Given the description of an element on the screen output the (x, y) to click on. 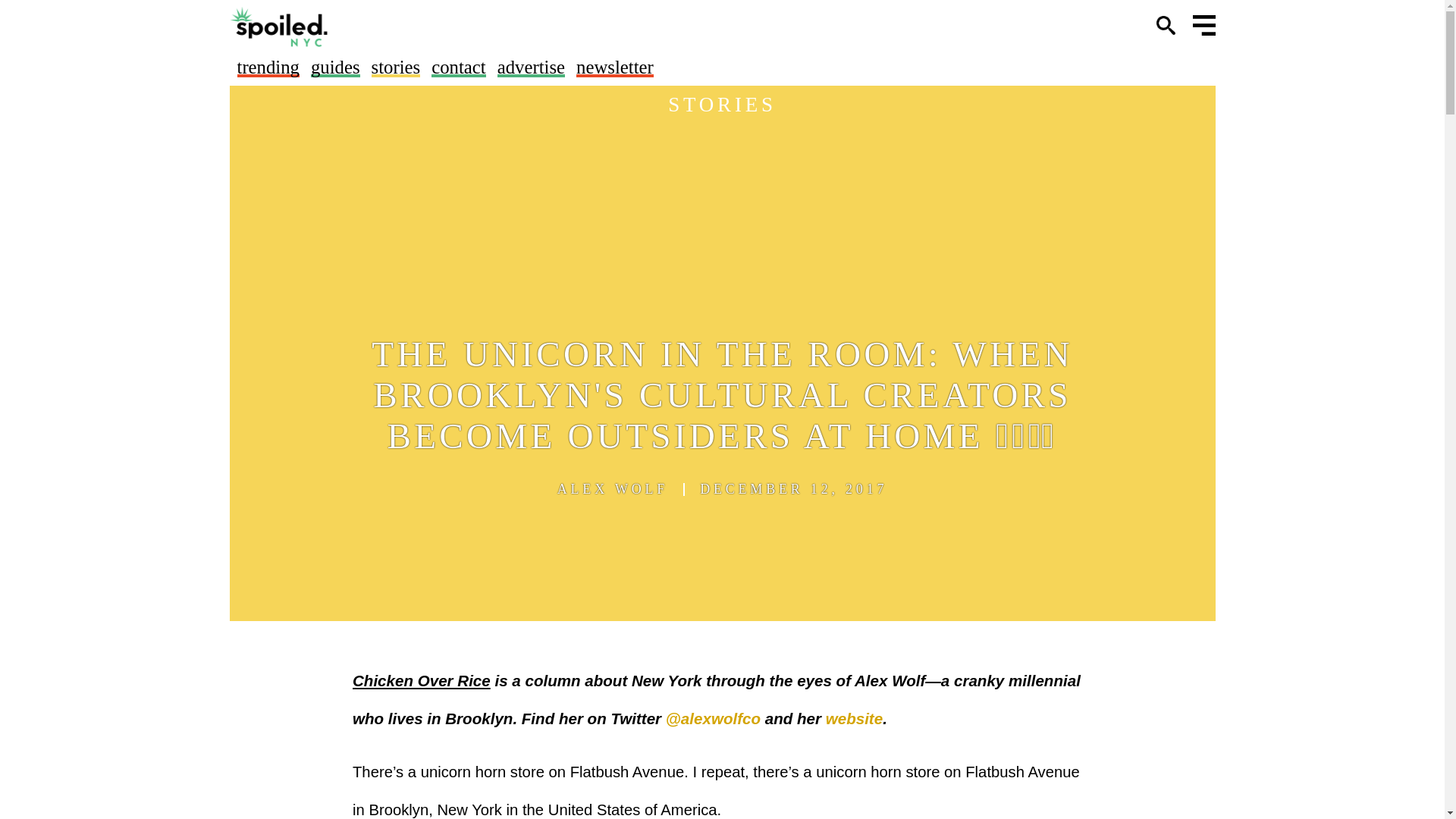
website (853, 718)
ALEX WOLF (612, 489)
newsletter (614, 66)
STORIES (722, 104)
guides (335, 66)
advertise (530, 66)
trending (266, 66)
contact (457, 66)
stories (395, 66)
